Given the description of an element on the screen output the (x, y) to click on. 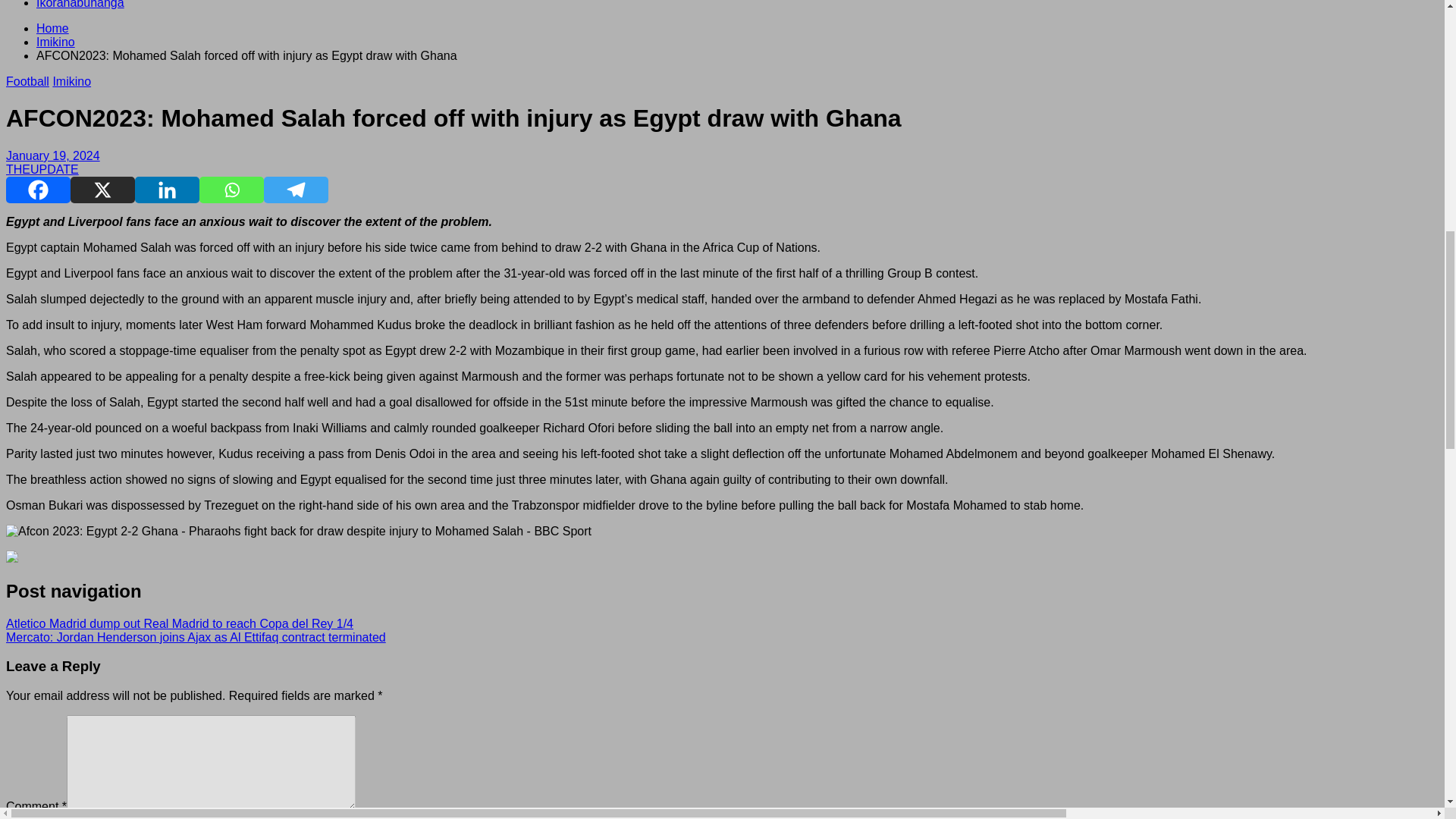
Ikoranabuhanga (79, 4)
Linkedin (167, 189)
Whatsapp (231, 189)
Telegram (296, 189)
Facebook (37, 189)
X (102, 189)
Home (52, 28)
